Given the description of an element on the screen output the (x, y) to click on. 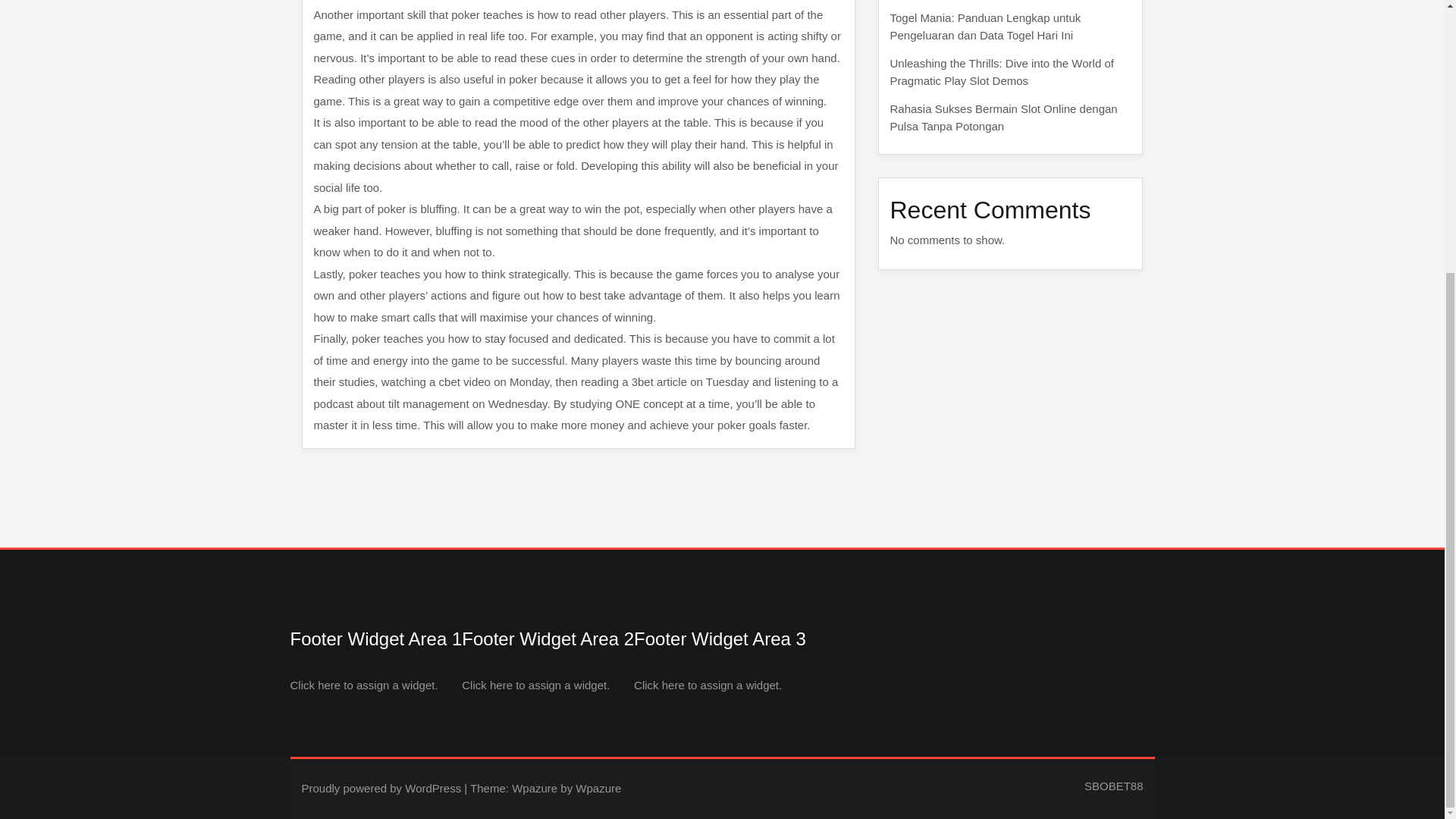
Click here to assign a widget. (535, 684)
SBOBET88 (1113, 785)
SBOBET88 (1113, 785)
Wpazure (534, 788)
Click here to assign a widget. (707, 684)
Proudly powered by WordPress (381, 788)
Click here to assign a widget. (363, 684)
